Given the description of an element on the screen output the (x, y) to click on. 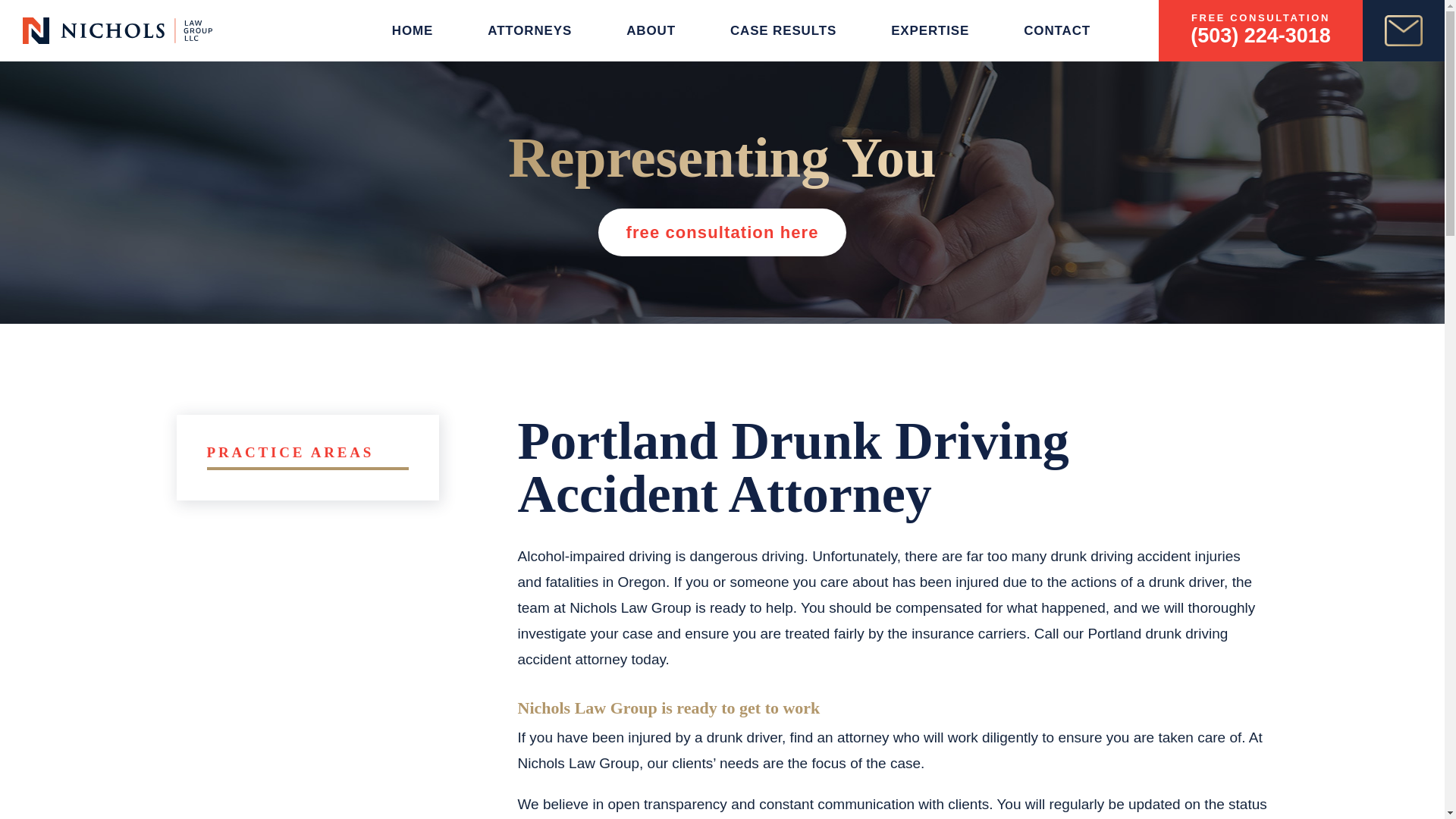
EXPERTISE (930, 30)
ABOUT (650, 30)
CASE RESULTS (782, 30)
free consultation here (721, 232)
ATTORNEYS (529, 30)
CONTACT (1056, 30)
HOME (411, 30)
